Given the description of an element on the screen output the (x, y) to click on. 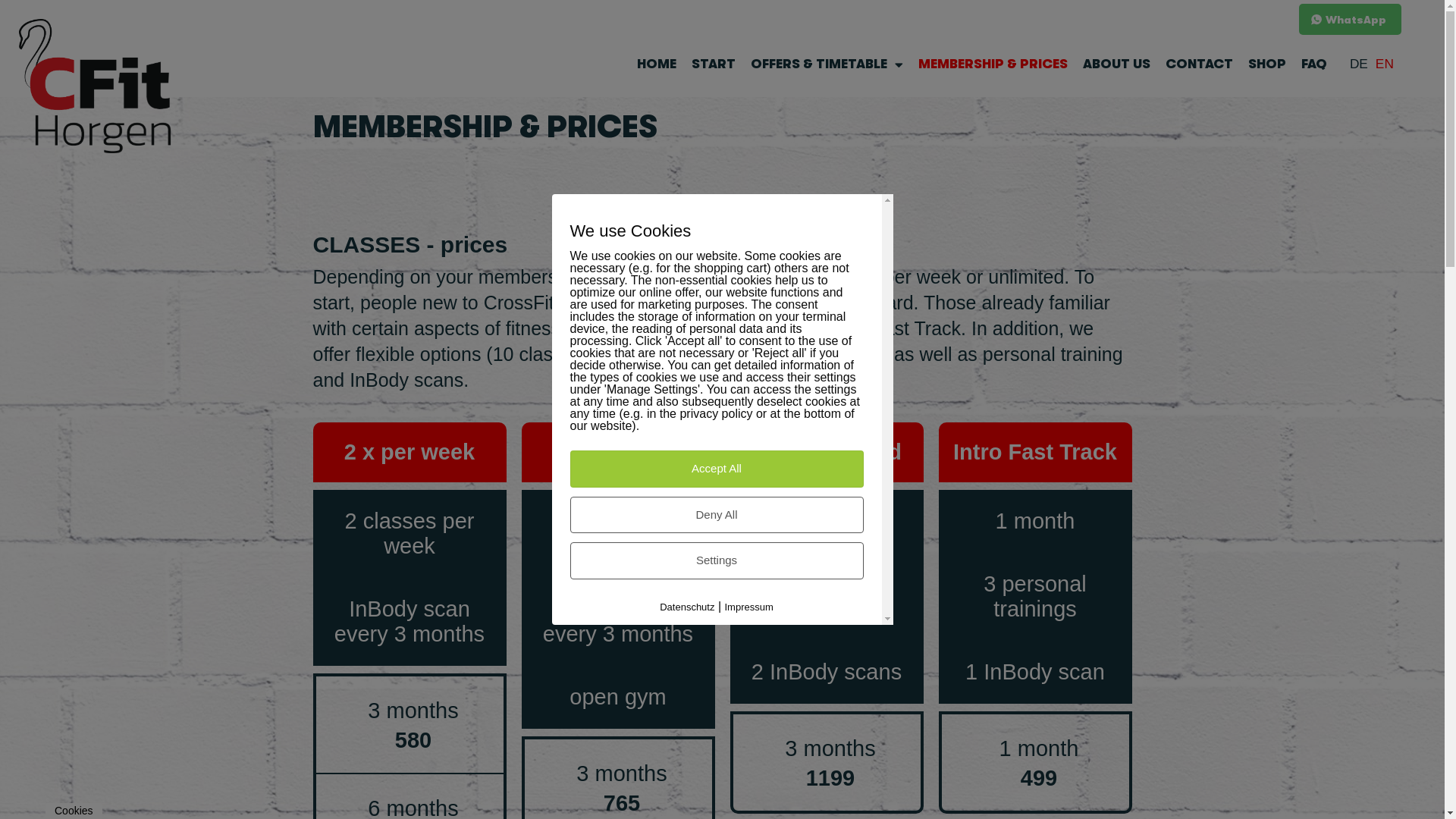
START Element type: text (713, 64)
CONTACT Element type: text (1198, 64)
SHOP Element type: text (1266, 64)
ABOUT US Element type: text (1116, 64)
MEMBERSHIP & PRICES Element type: text (992, 64)
OFFERS & TIMETABLE Element type: text (826, 64)
Deny All Element type: text (716, 514)
Accept All Element type: text (716, 468)
Impressum Element type: text (748, 606)
WhatsApp Element type: text (1350, 18)
FAQ Element type: text (1313, 64)
EN Element type: text (1384, 63)
Settings Element type: text (716, 560)
HOME Element type: text (656, 64)
Datenschutz Element type: text (686, 606)
DE Element type: text (1358, 63)
